Given the description of an element on the screen output the (x, y) to click on. 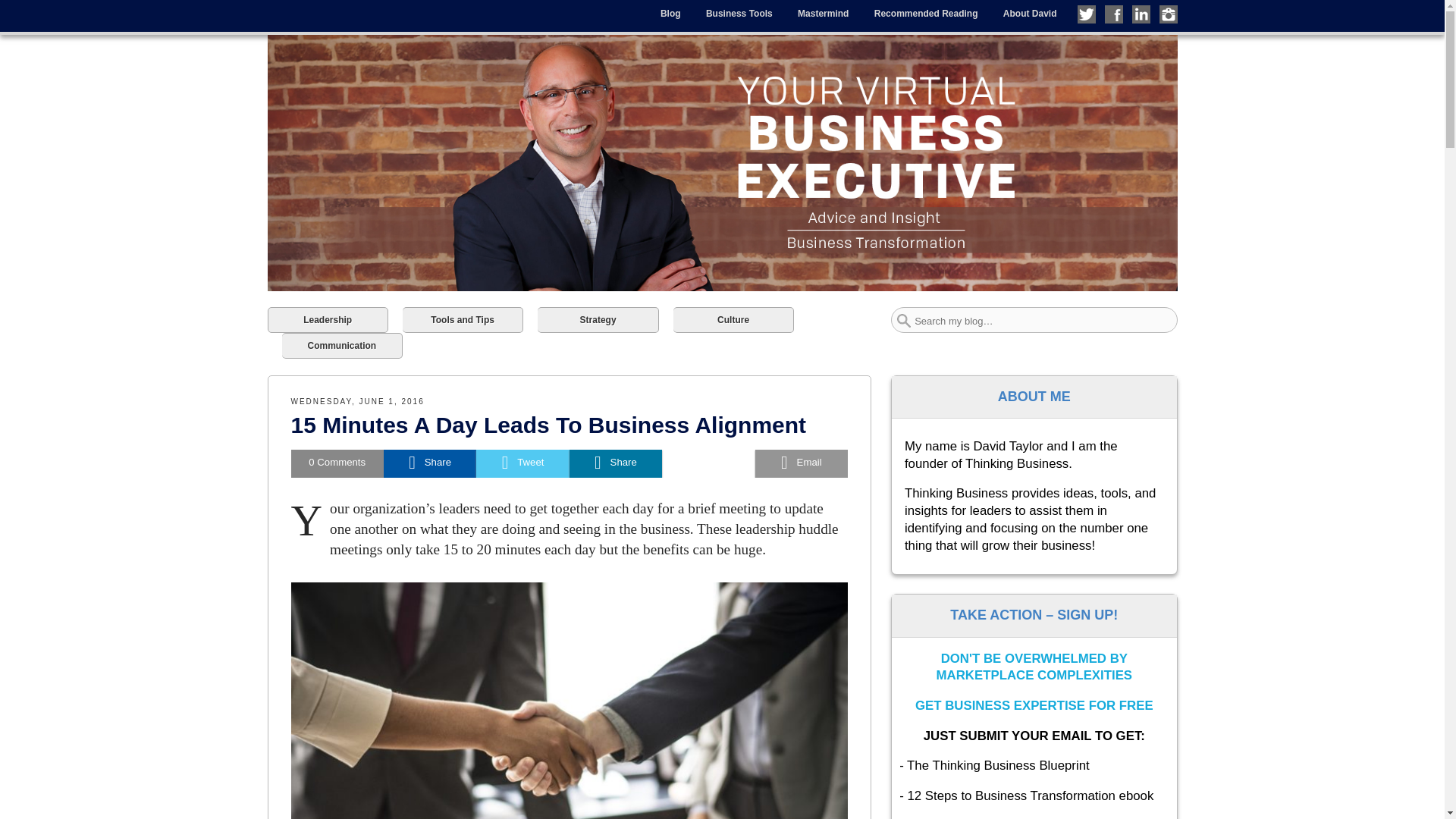
Communication (342, 345)
Culture (732, 319)
Skip to content (299, 10)
Share (615, 463)
Share on Facebook (430, 463)
Skip to content (299, 10)
Email (801, 463)
Follow me on Twitter (1085, 13)
Share on LinkedIn (615, 463)
Tweet this Post (522, 463)
